Given the description of an element on the screen output the (x, y) to click on. 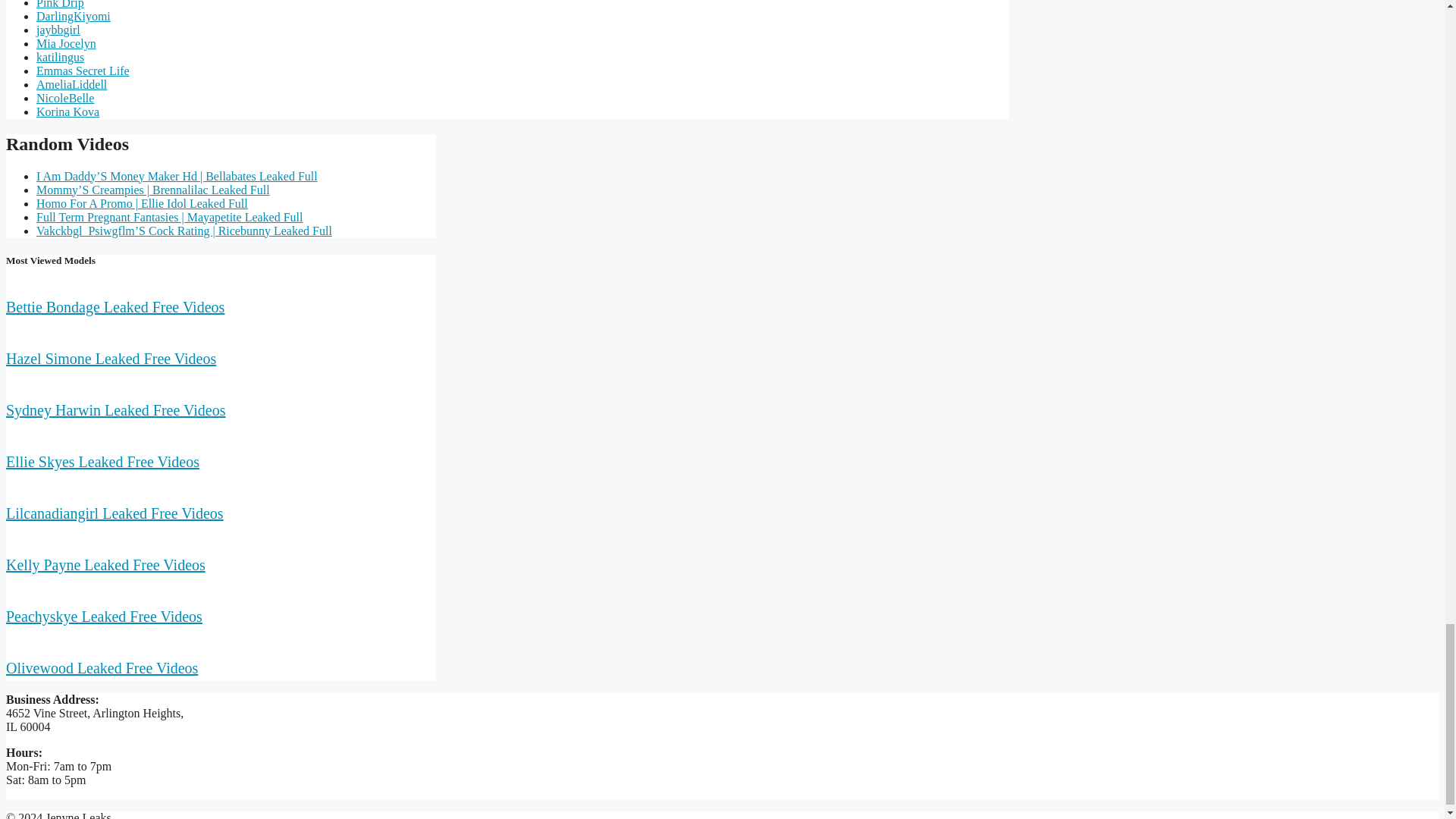
katilingus (60, 56)
DarlingKiyomi (73, 15)
Emmas Secret Life (82, 70)
jaybbgirl (58, 29)
Pink Drip (60, 4)
Mia Jocelyn (66, 42)
